Given the description of an element on the screen output the (x, y) to click on. 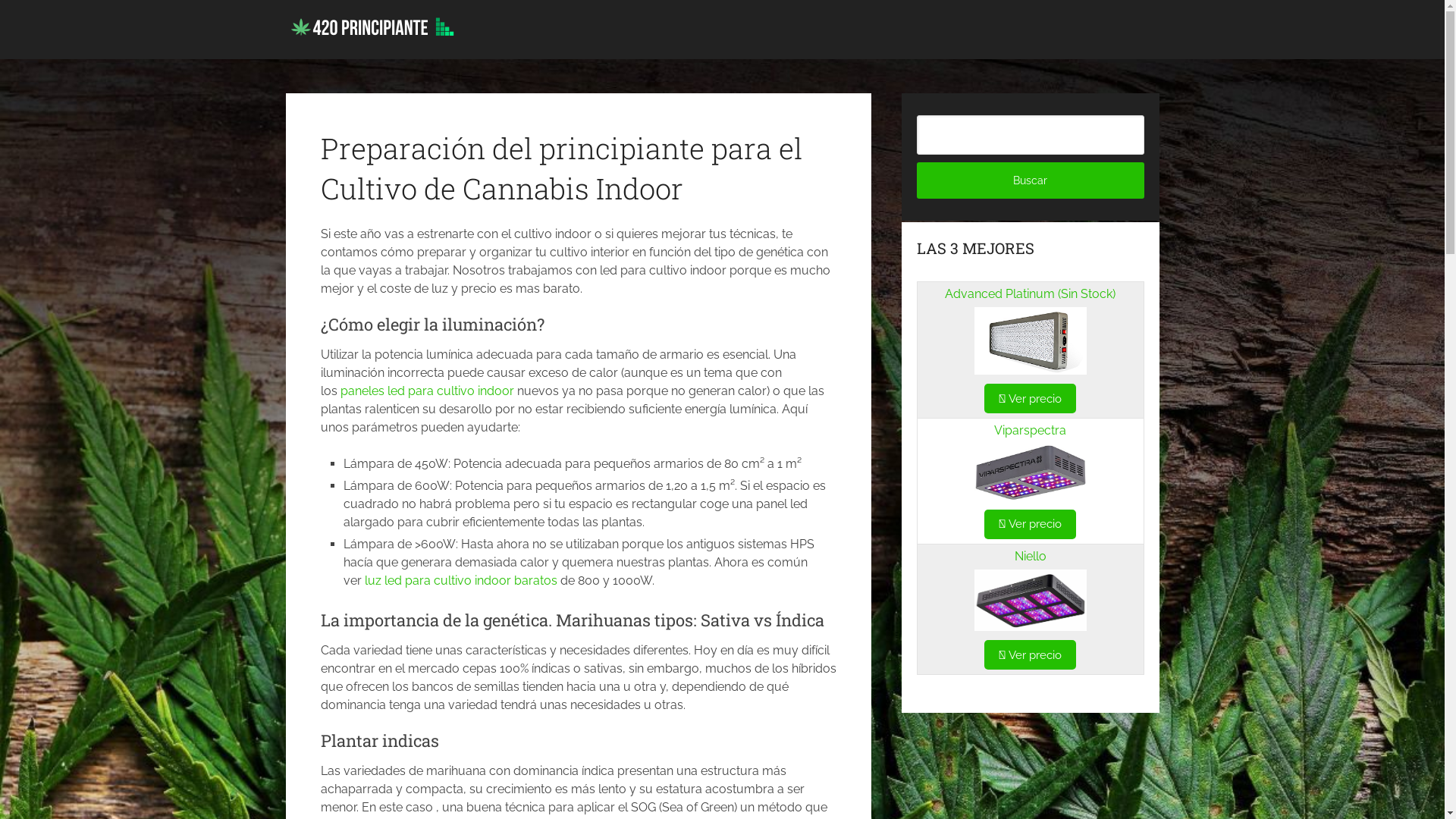
Advanced Platinum (Sin Stock) Element type: text (1029, 293)
luz led para cultivo indoor baratos Element type: text (460, 580)
Niello Element type: text (1030, 556)
paneles led para cultivo indoor Element type: text (426, 390)
Buscar Element type: text (1030, 180)
Viparspectra Element type: text (1030, 430)
